Given the description of an element on the screen output the (x, y) to click on. 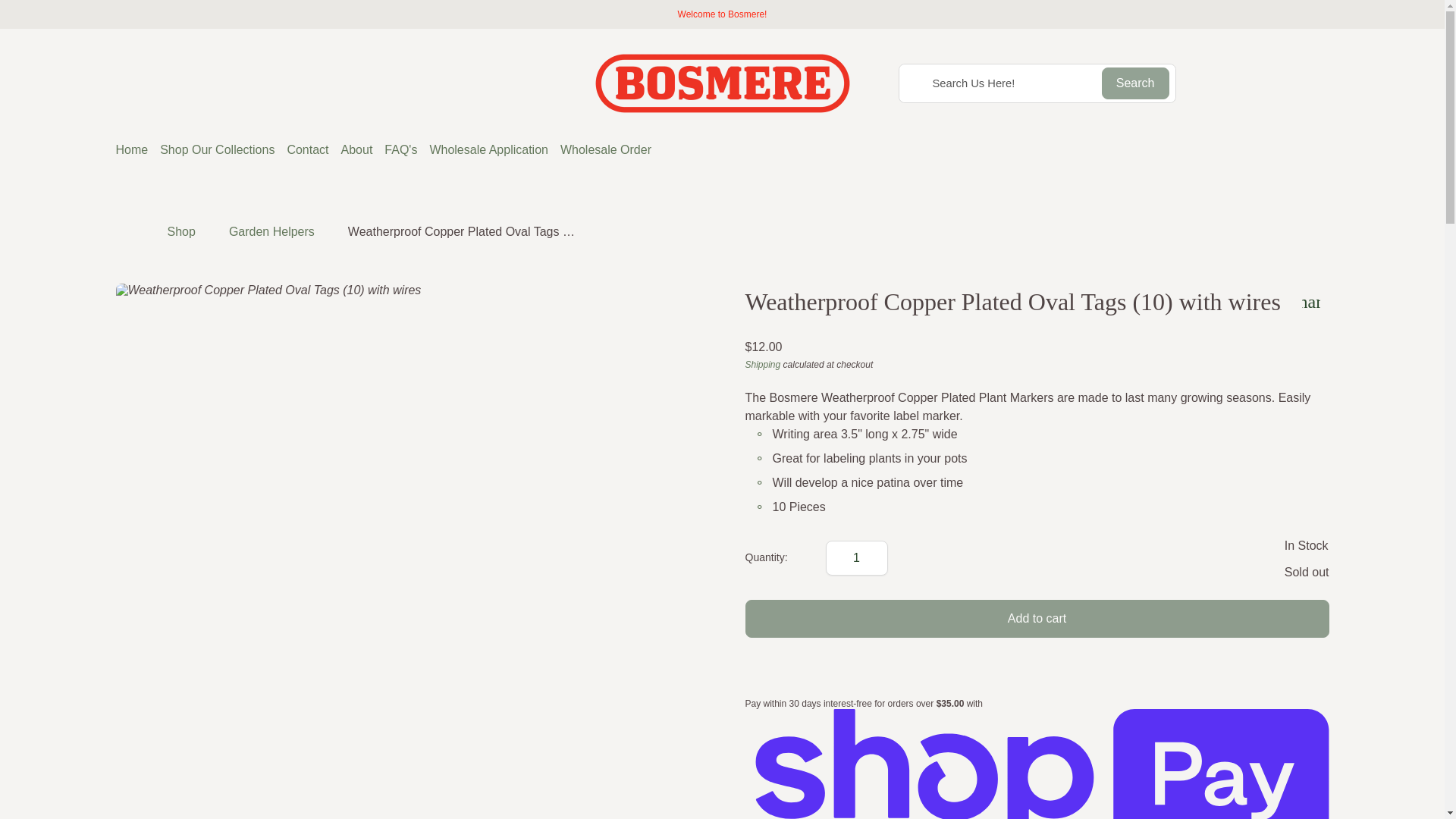
1 (856, 557)
Shop (181, 232)
Search (1135, 83)
Home (124, 231)
Wholesale Order (605, 150)
Shop Our Collections (217, 150)
Account (1318, 83)
Shipping (762, 364)
Garden Helpers (271, 232)
Home (721, 83)
